Given the description of an element on the screen output the (x, y) to click on. 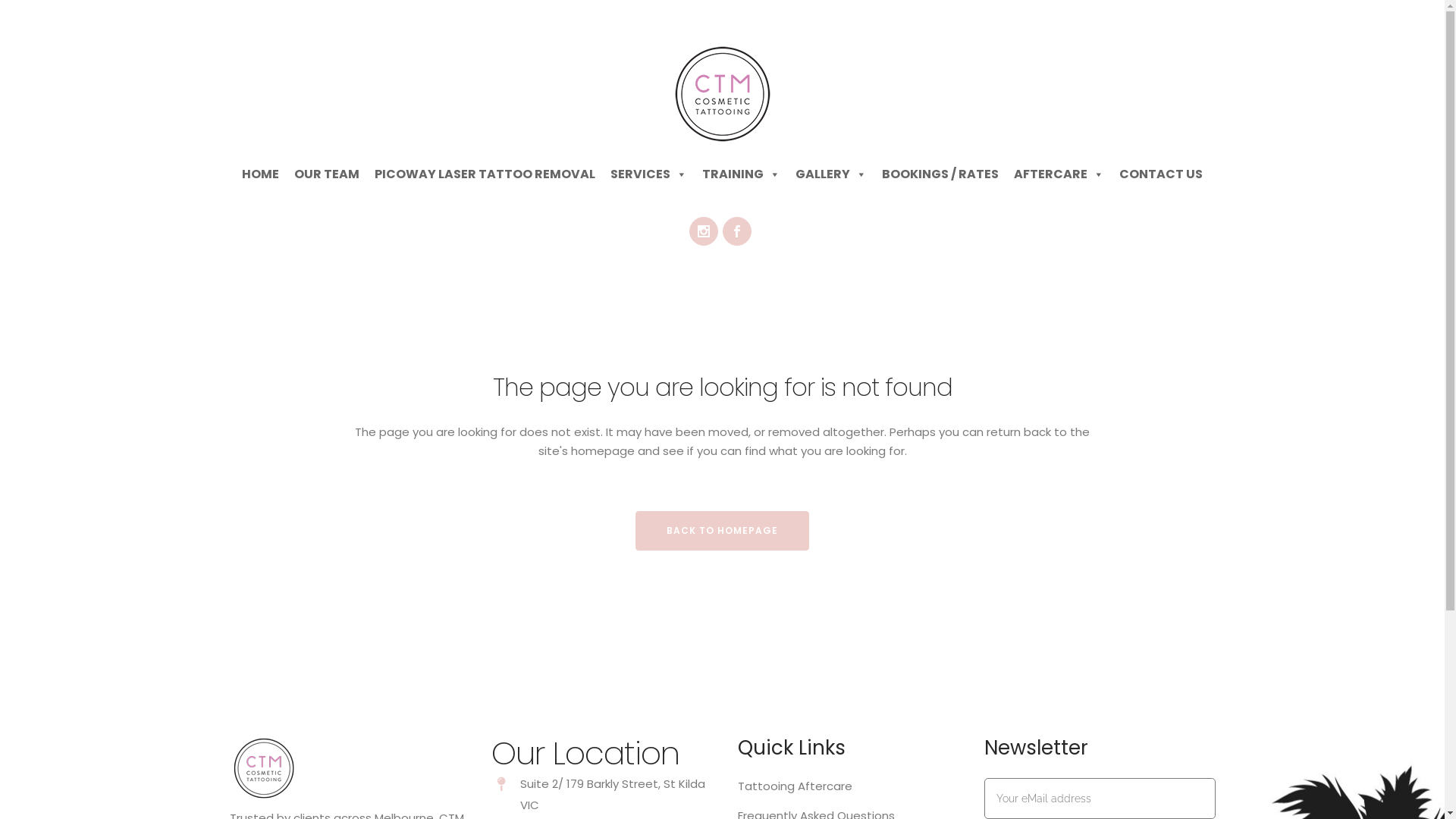
Tattooing Aftercare Element type: text (850, 786)
HOME Element type: text (260, 174)
BOOKINGS / RATES Element type: text (940, 174)
SERVICES Element type: text (648, 174)
PICOWAY LASER TATTOO REMOVAL Element type: text (484, 174)
CONTACT US Element type: text (1160, 174)
GALLERY Element type: text (830, 174)
AFTERCARE Element type: text (1058, 174)
BACK TO HOMEPAGE Element type: text (722, 530)
TRAINING Element type: text (740, 174)
OUR TEAM Element type: text (326, 174)
